Given the description of an element on the screen output the (x, y) to click on. 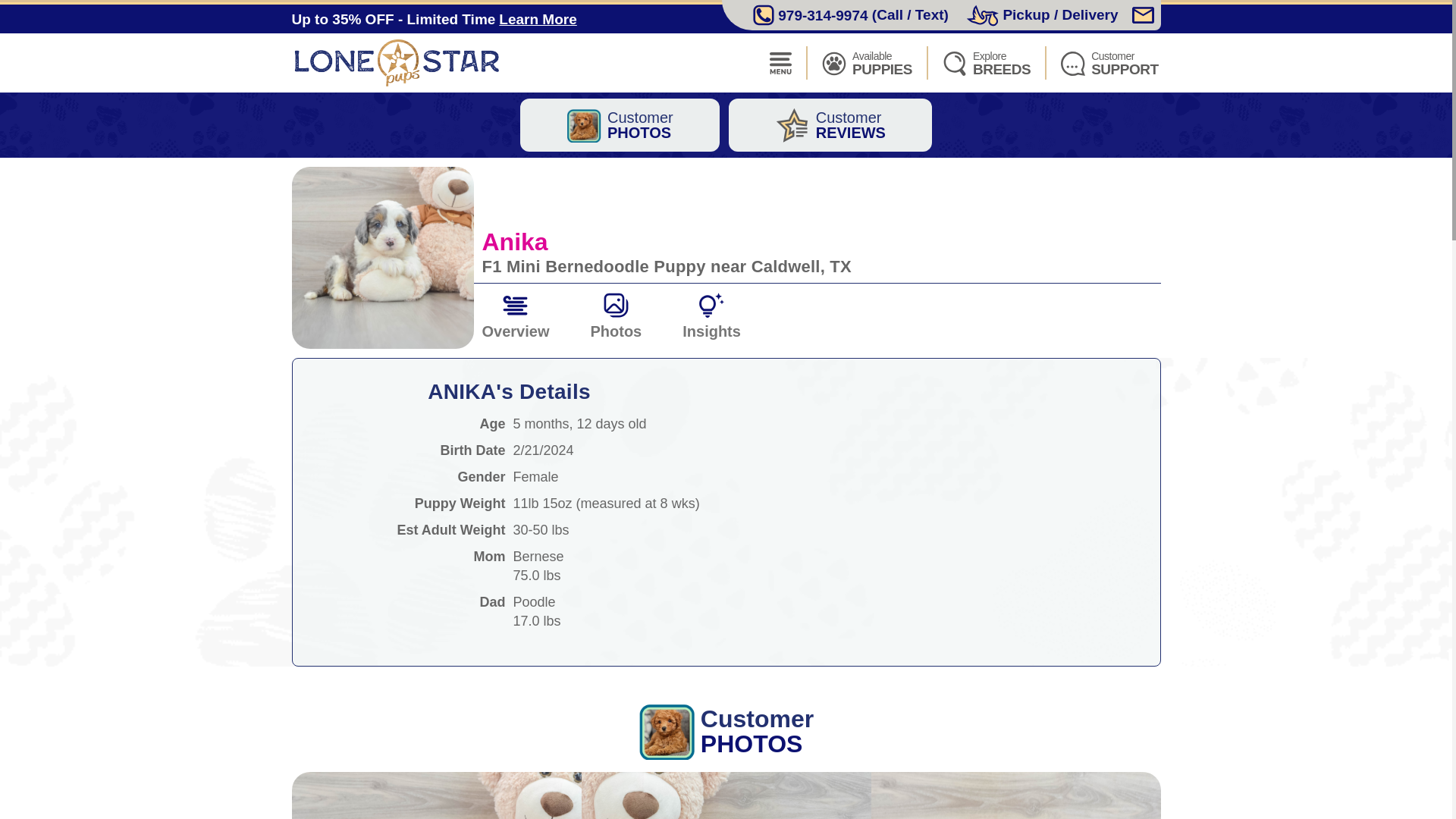
Delivery Options (1041, 15)
Learn More (986, 62)
Lone Star Pups (537, 19)
Insights (619, 124)
Overview (830, 124)
Photos (399, 63)
